Given the description of an element on the screen output the (x, y) to click on. 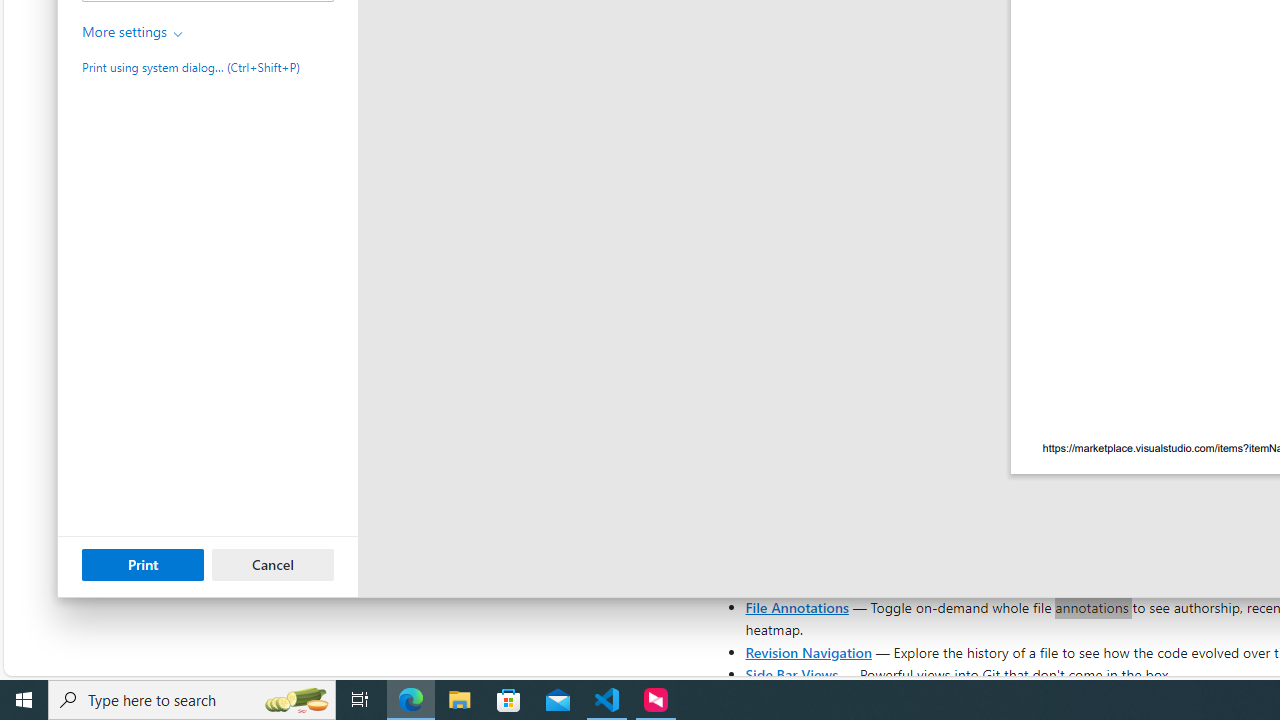
Cancel (273, 564)
Print (142, 564)
Class: c0183 (178, 34)
More settings (133, 32)
